Given the description of an element on the screen output the (x, y) to click on. 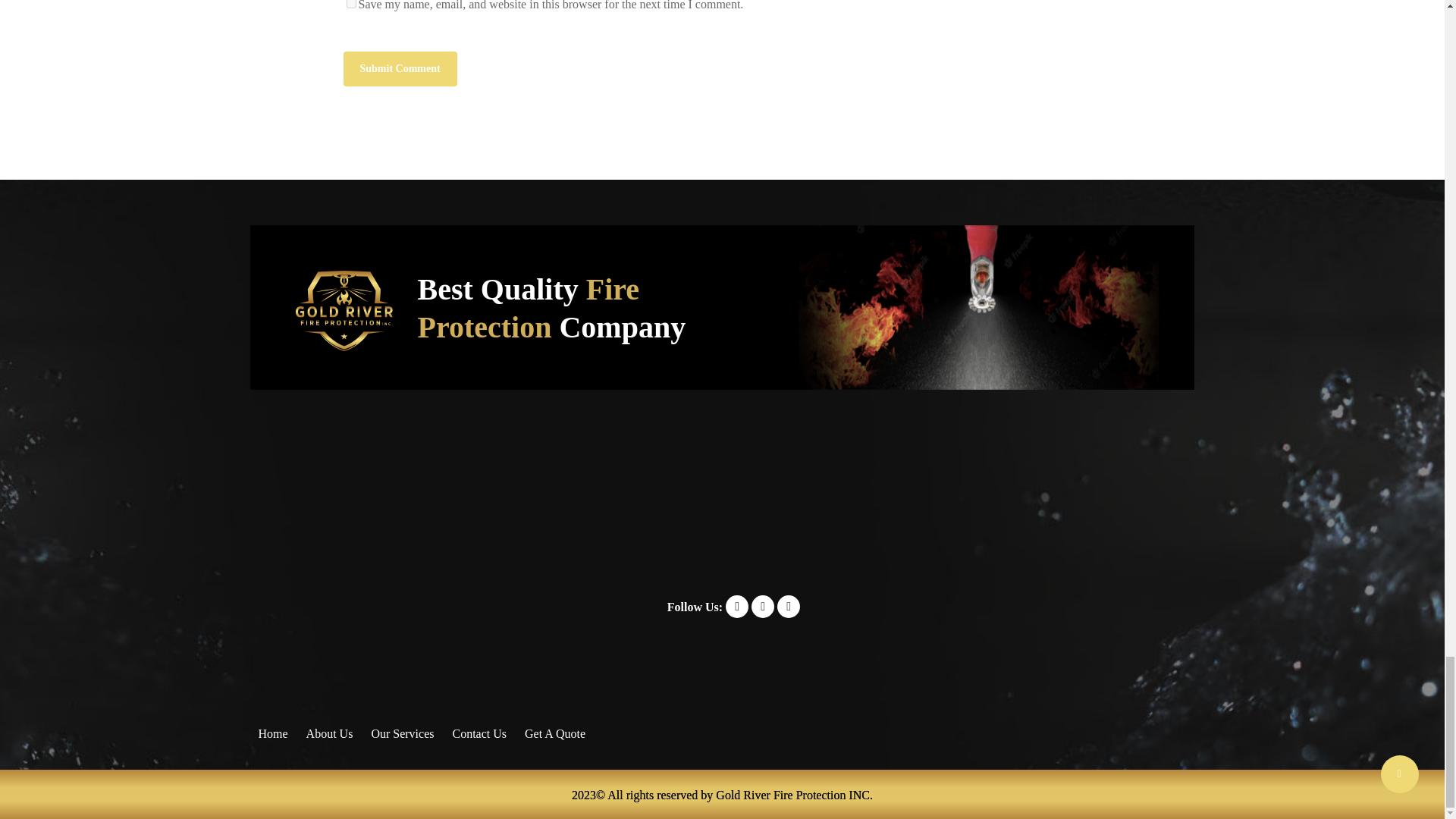
Home (271, 733)
Submit Comment (399, 68)
Submit Comment (399, 68)
Contact Us (478, 733)
About Us (329, 733)
yes (350, 4)
Get A Quote (554, 733)
Our Services (402, 733)
